Given the description of an element on the screen output the (x, y) to click on. 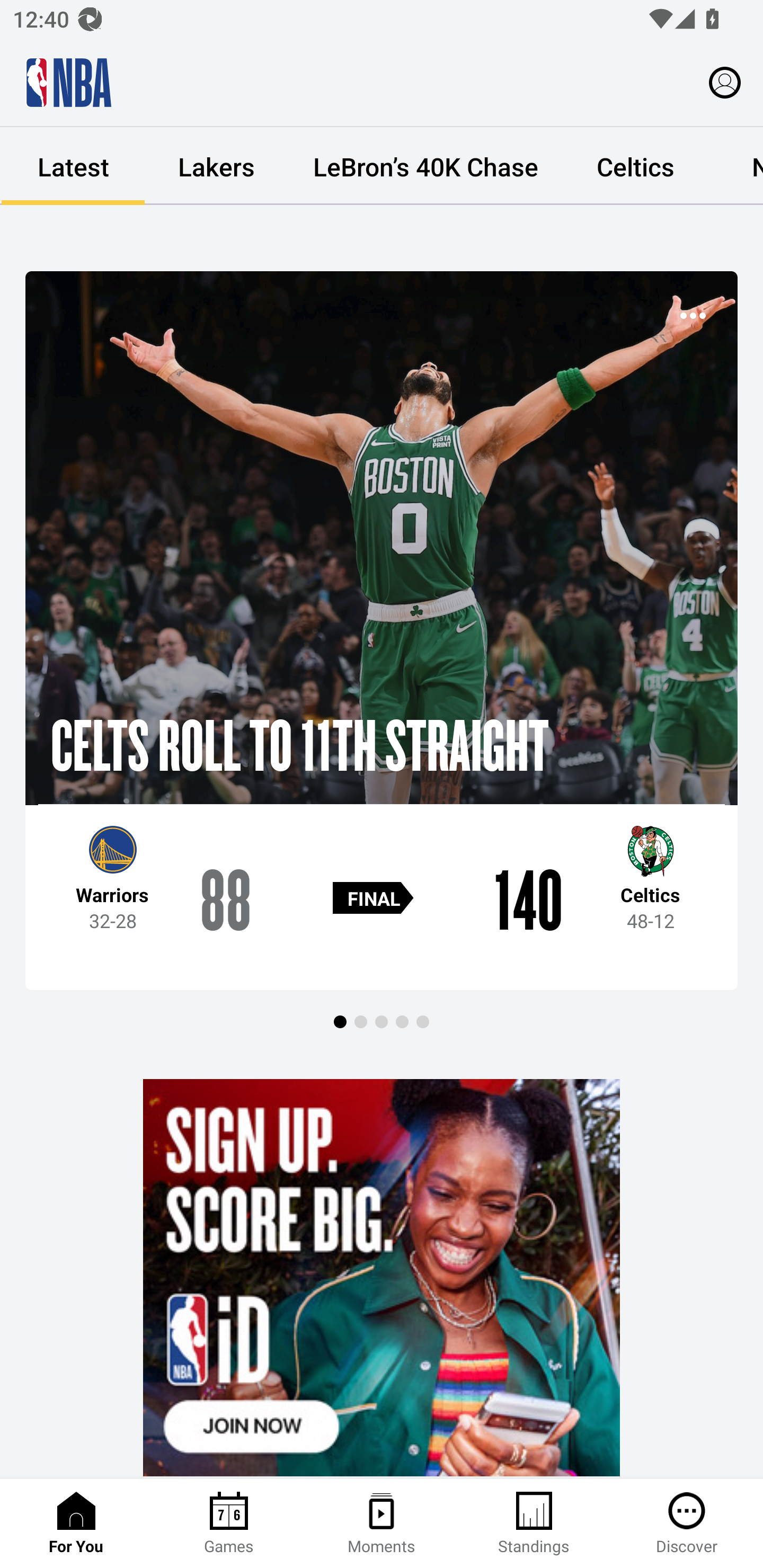
Profile (724, 81)
Lakers (215, 166)
LeBron’s 40K Chase (425, 166)
Celtics (634, 166)
Games (228, 1523)
Moments (381, 1523)
Standings (533, 1523)
Discover (686, 1523)
